Given the description of an element on the screen output the (x, y) to click on. 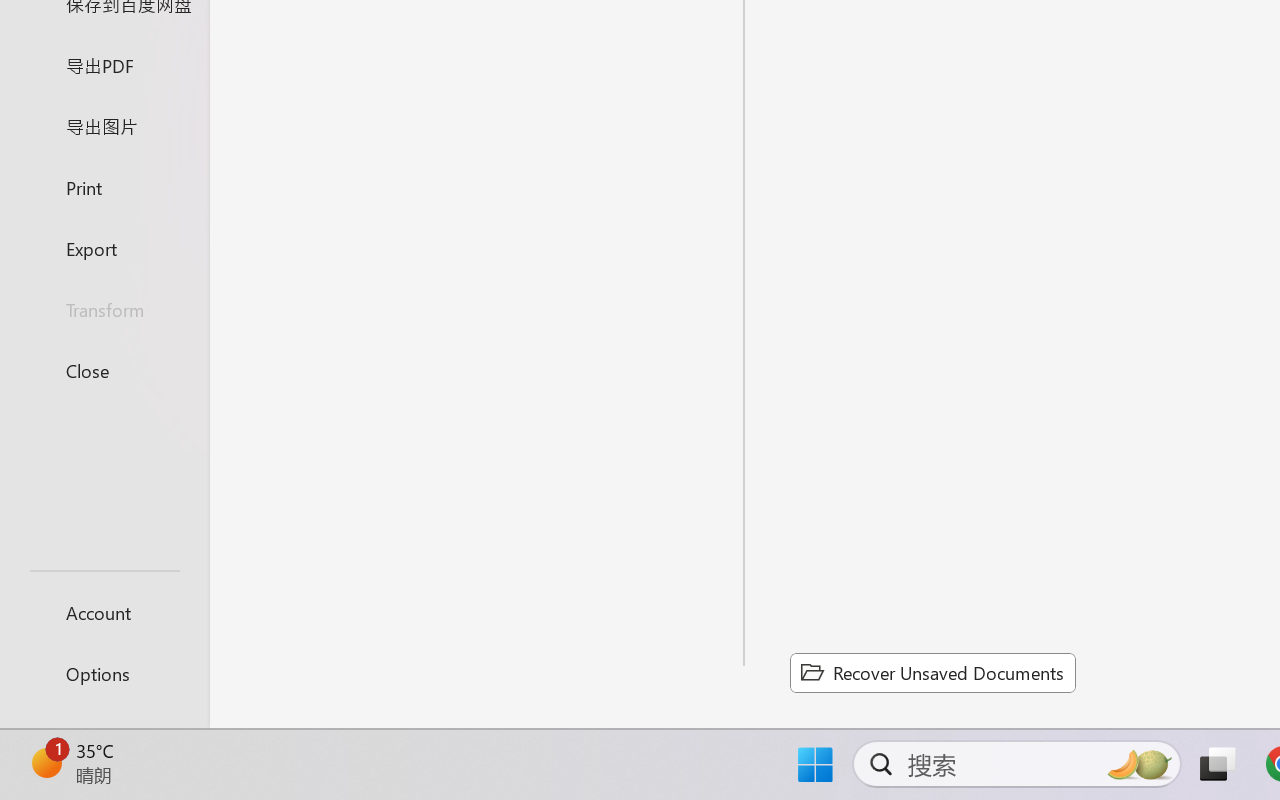
Recover Unsaved Documents (932, 672)
Options (104, 673)
Transform (104, 309)
Account (104, 612)
Export (104, 248)
Print (104, 186)
